Given the description of an element on the screen output the (x, y) to click on. 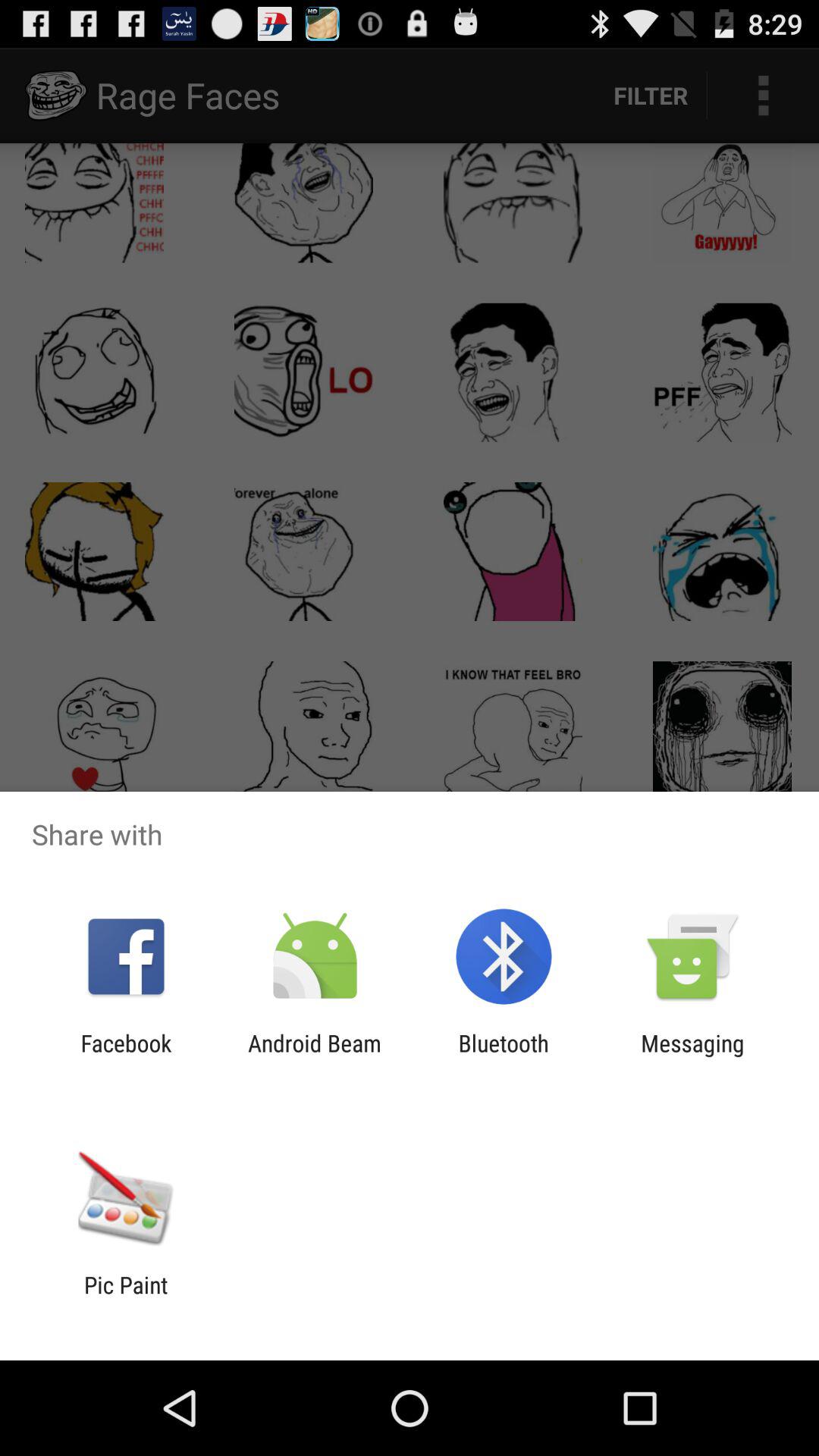
flip to the bluetooth icon (503, 1056)
